Given the description of an element on the screen output the (x, y) to click on. 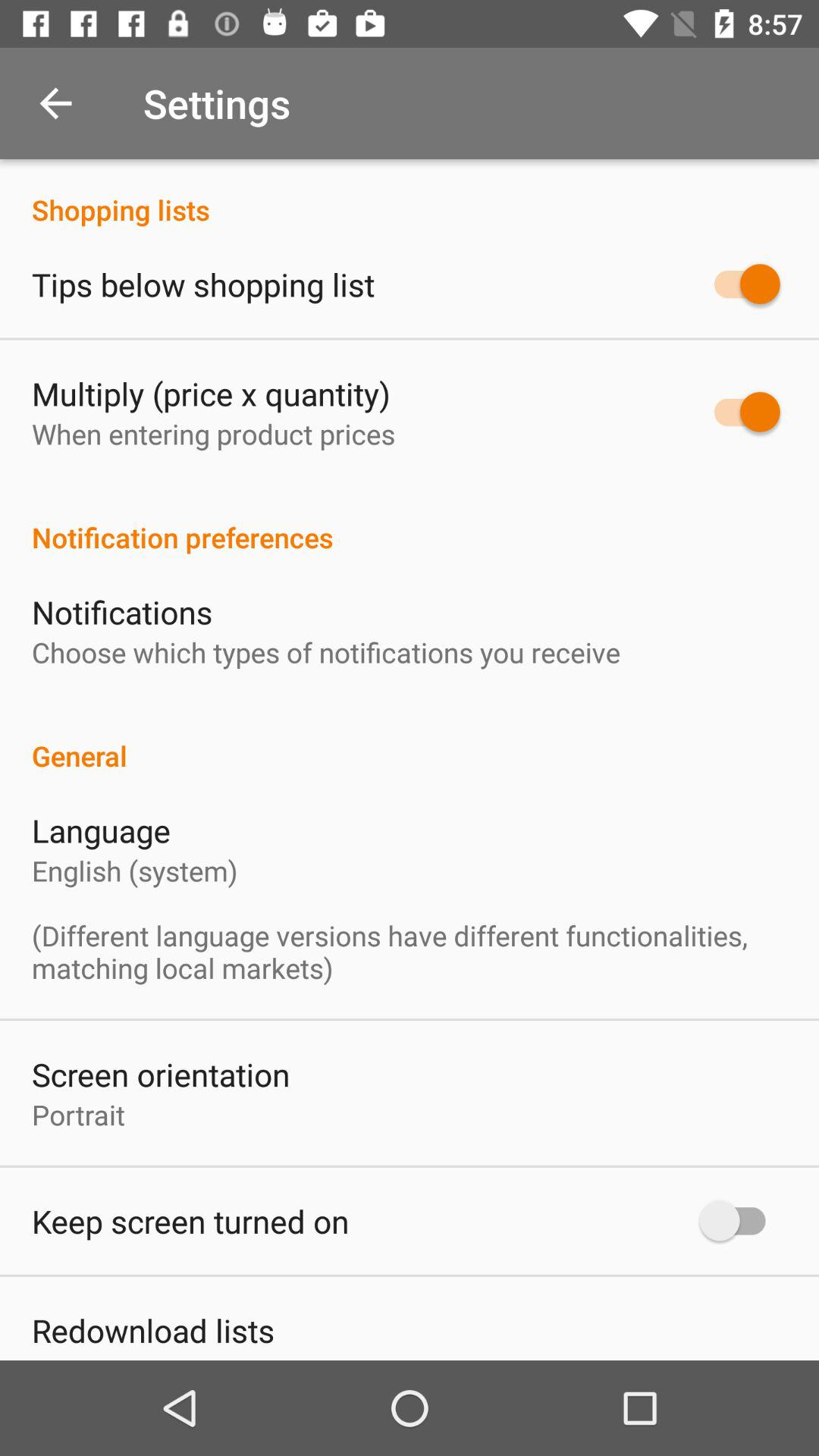
swipe to the general (409, 739)
